Given the description of an element on the screen output the (x, y) to click on. 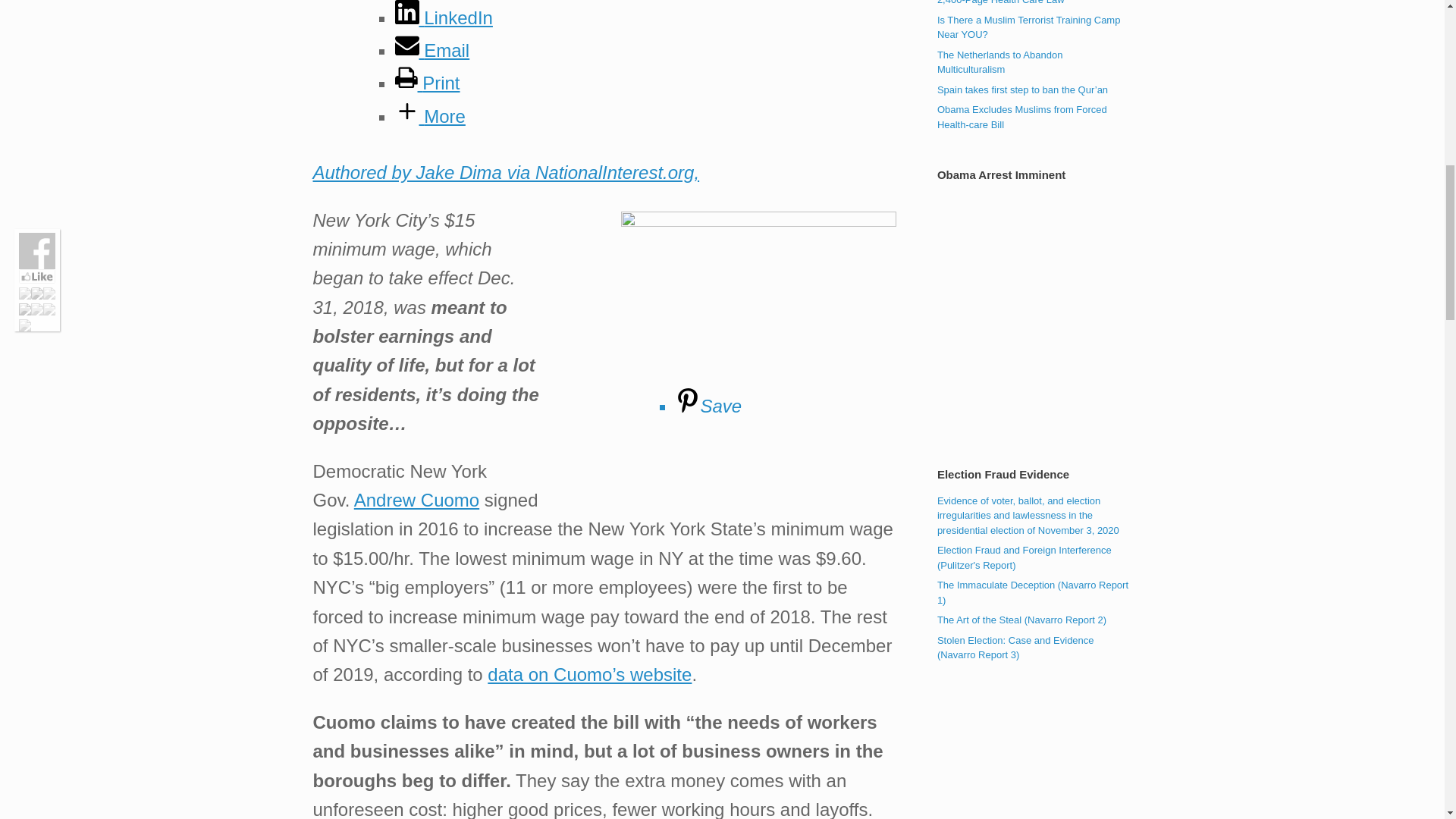
June 7, 2012 (1022, 89)
May 7, 2013 (1029, 26)
Authored by Jake Dima via NationalInterest.org, (505, 172)
LinkedIn (443, 17)
Andrew Cuomo (416, 499)
January 26, 2013 (999, 61)
March 24, 2010 (1029, 2)
Print (427, 82)
More (429, 116)
Email (431, 50)
